Given the description of an element on the screen output the (x, y) to click on. 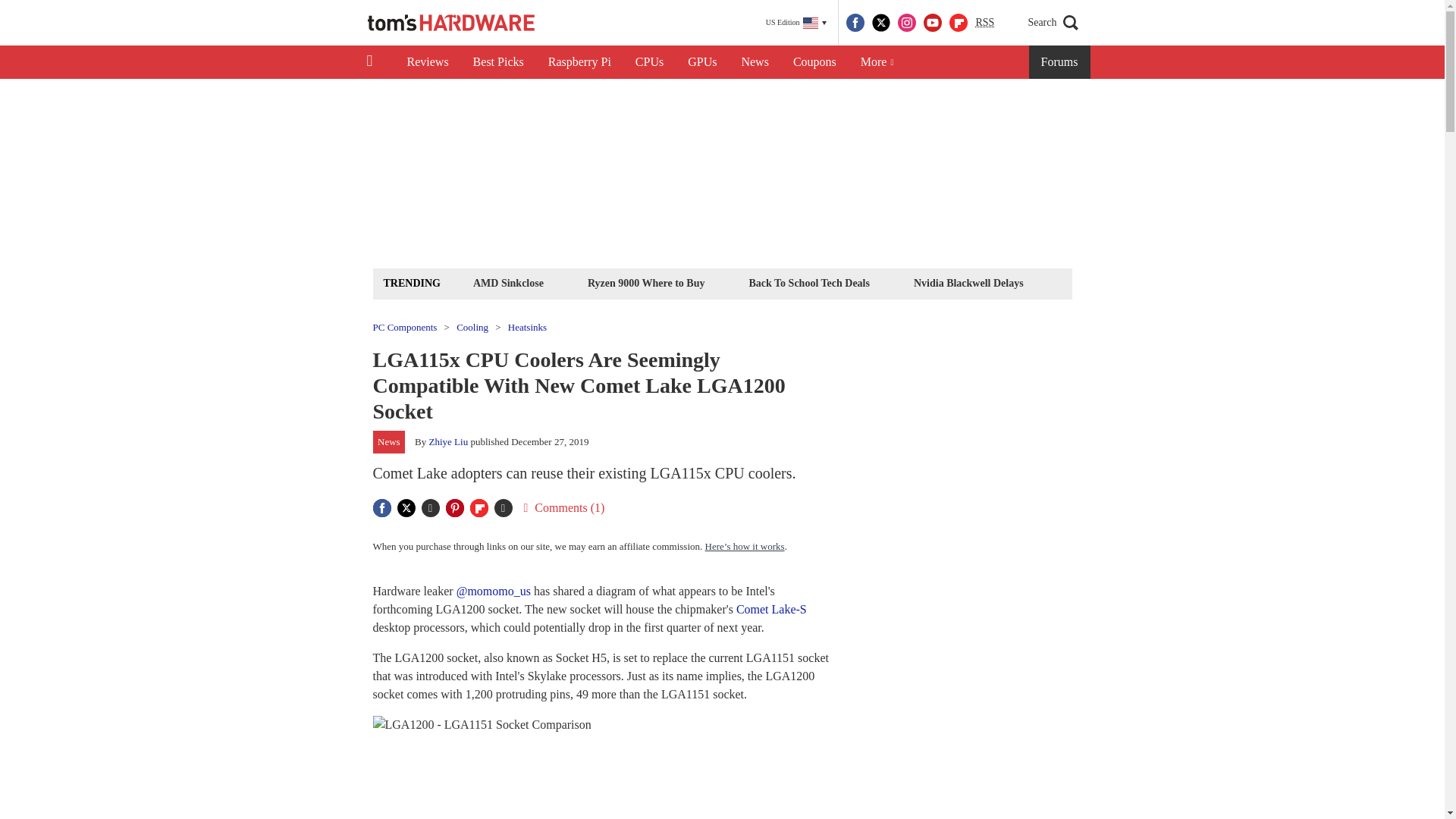
Raspberry Pi (579, 61)
GPUs (702, 61)
Coupons (814, 61)
CPUs (649, 61)
Best Picks (498, 61)
News (754, 61)
Really Simple Syndication (984, 21)
AMD Sinkclose (507, 282)
Reviews (427, 61)
Forums (1059, 61)
